Given the description of an element on the screen output the (x, y) to click on. 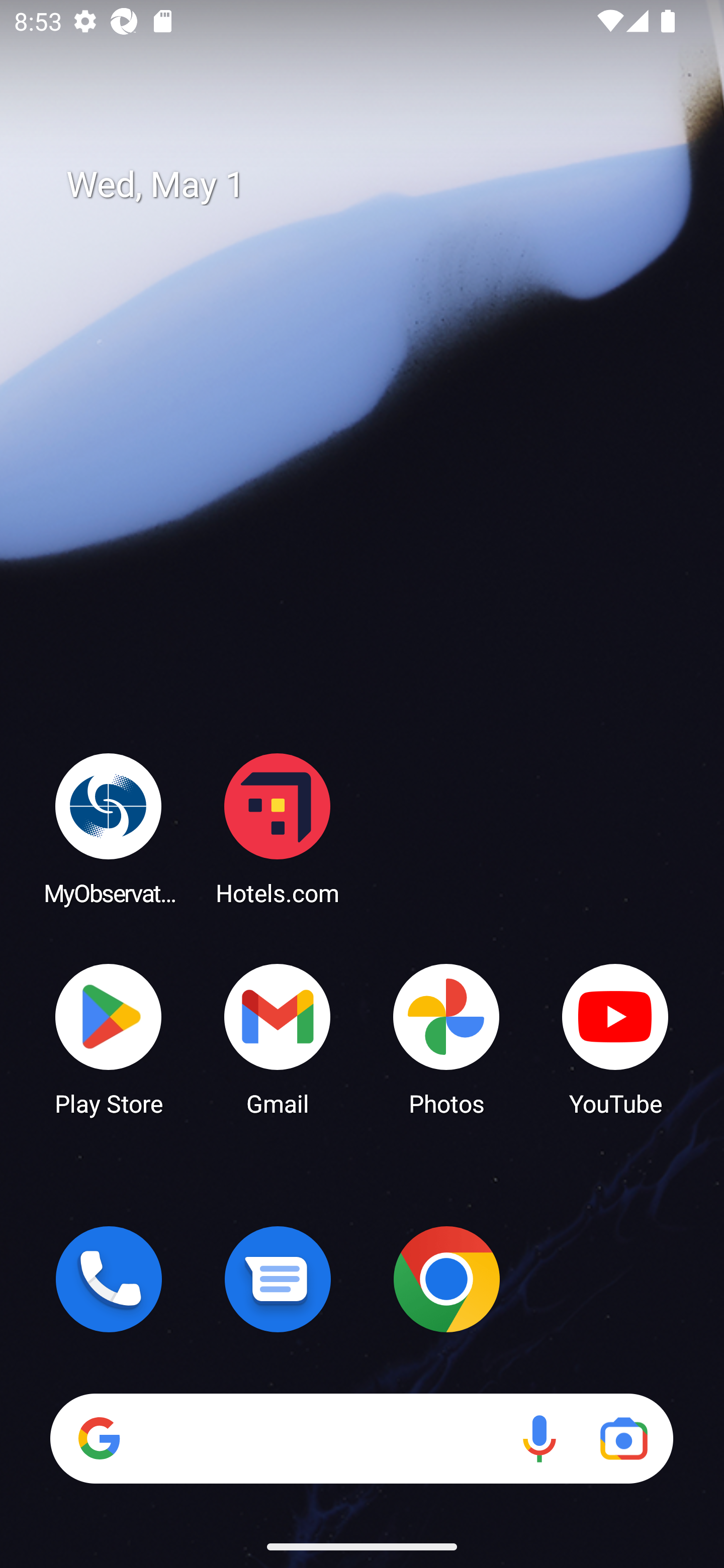
Wed, May 1 (375, 184)
MyObservatory (108, 828)
Hotels.com (277, 828)
Play Store (108, 1038)
Gmail (277, 1038)
Photos (445, 1038)
YouTube (615, 1038)
Phone (108, 1279)
Messages (277, 1279)
Chrome (446, 1279)
Search Voice search Google Lens (361, 1438)
Voice search (539, 1438)
Google Lens (623, 1438)
